Given the description of an element on the screen output the (x, y) to click on. 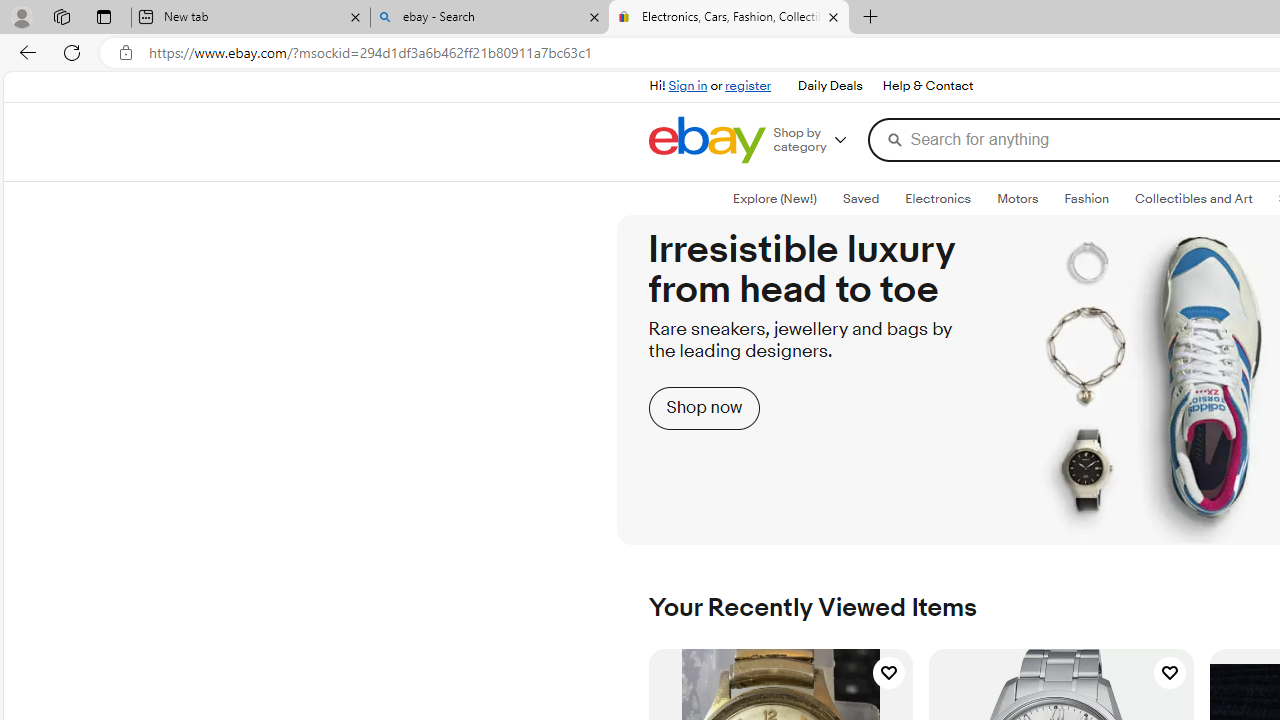
Electronics, Cars, Fashion, Collectibles & More | eBay (729, 17)
ebay - Search (490, 17)
